Given the description of an element on the screen output the (x, y) to click on. 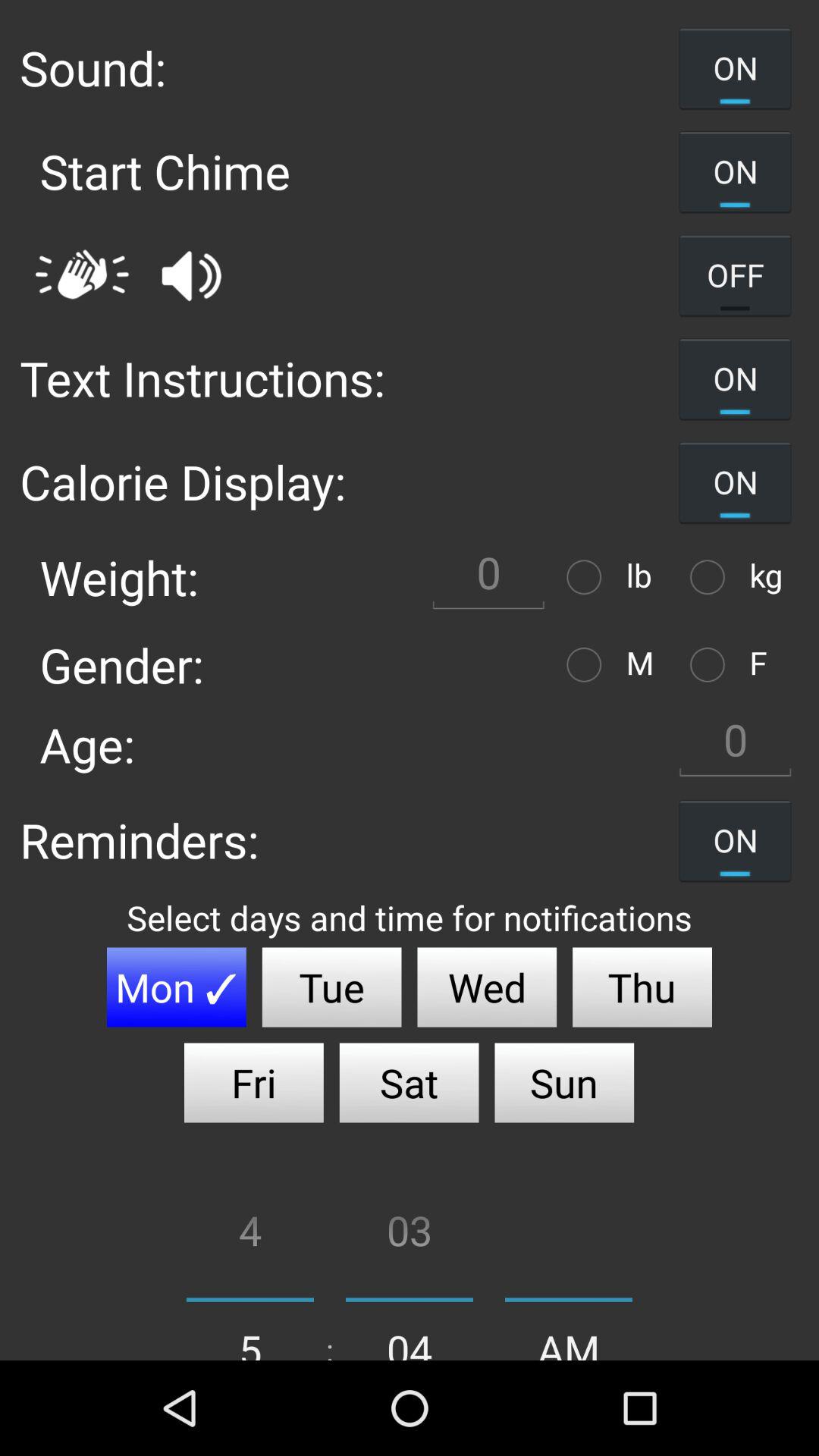
input weight (488, 577)
